Given the description of an element on the screen output the (x, y) to click on. 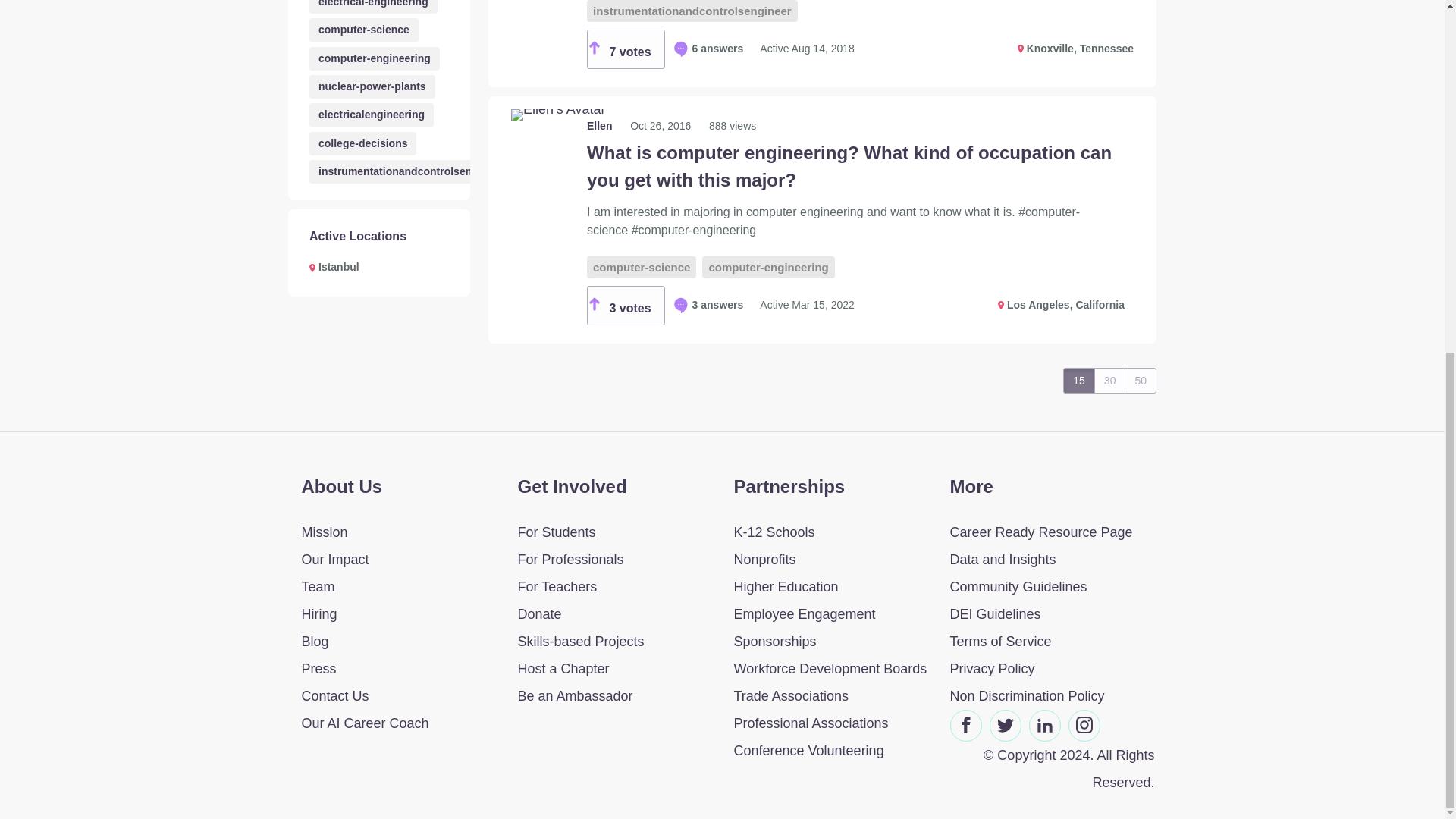
instrumentationandcontrolsengineer (691, 11)
See Career Questions tagged 'Computer Engineering' (373, 58)
Page size (1109, 380)
electrical-engineering (373, 6)
instrumentationandcontrolsengineer (410, 171)
6 answers (708, 49)
See Career Questions tagged 'Computer Science' (363, 29)
nuclear-power-plants (371, 86)
computer-engineering (373, 58)
See Career Questions tagged 'Nuclear Power Plants' (371, 86)
